Given the description of an element on the screen output the (x, y) to click on. 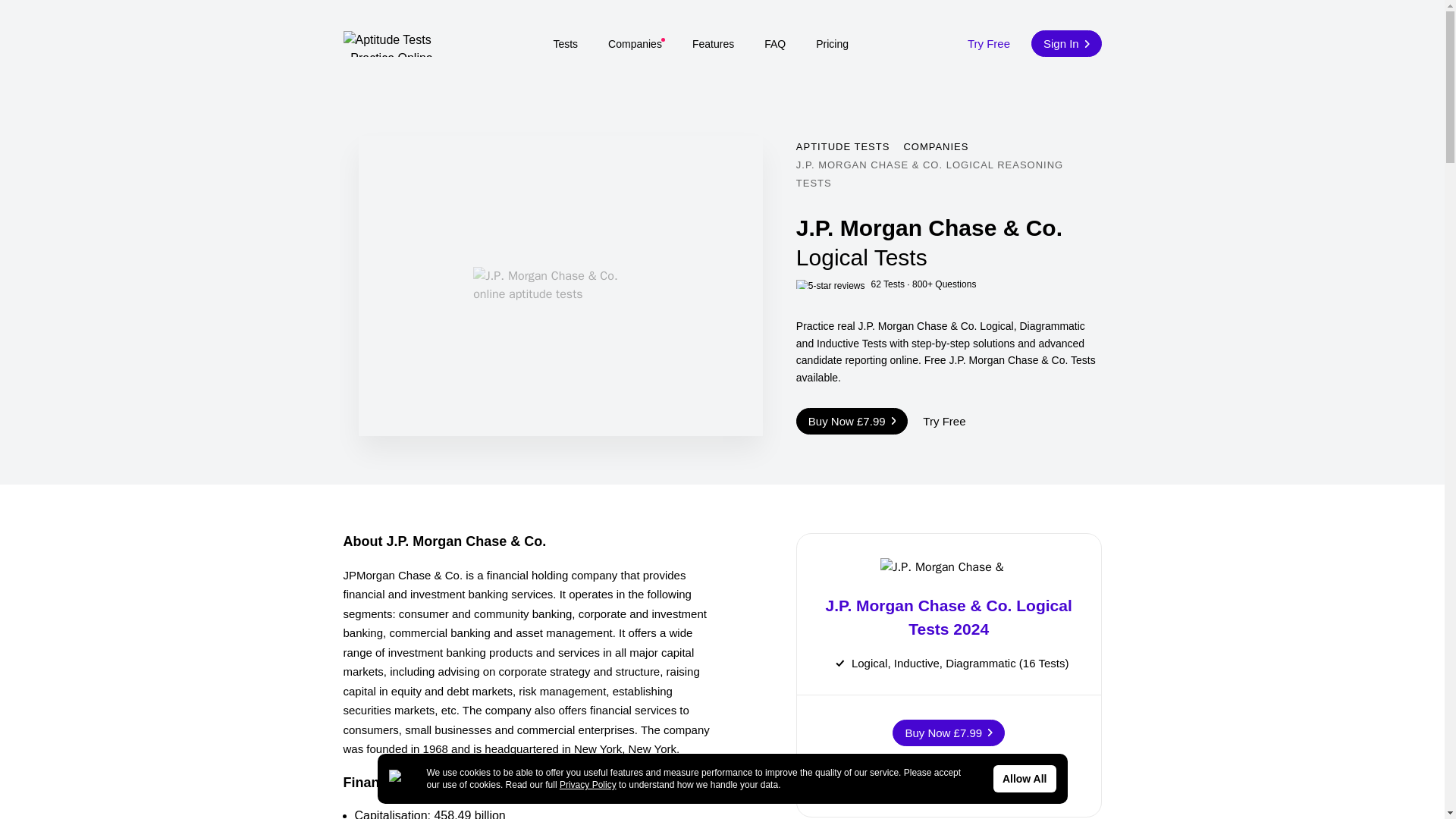
Try Free (989, 43)
Try free tests (989, 43)
Explore company aptitude tests (635, 43)
FAQ (775, 43)
COMPANIES (935, 146)
Sign In (1065, 43)
Pricing (831, 43)
Try Free (944, 420)
Features (713, 43)
Companies (635, 43)
See our platform features (713, 43)
See plans and pricing (831, 43)
Sign In to platform (1065, 43)
Go to Homepage - Aptitude Tests (387, 43)
Find answer to your question (775, 43)
